Given the description of an element on the screen output the (x, y) to click on. 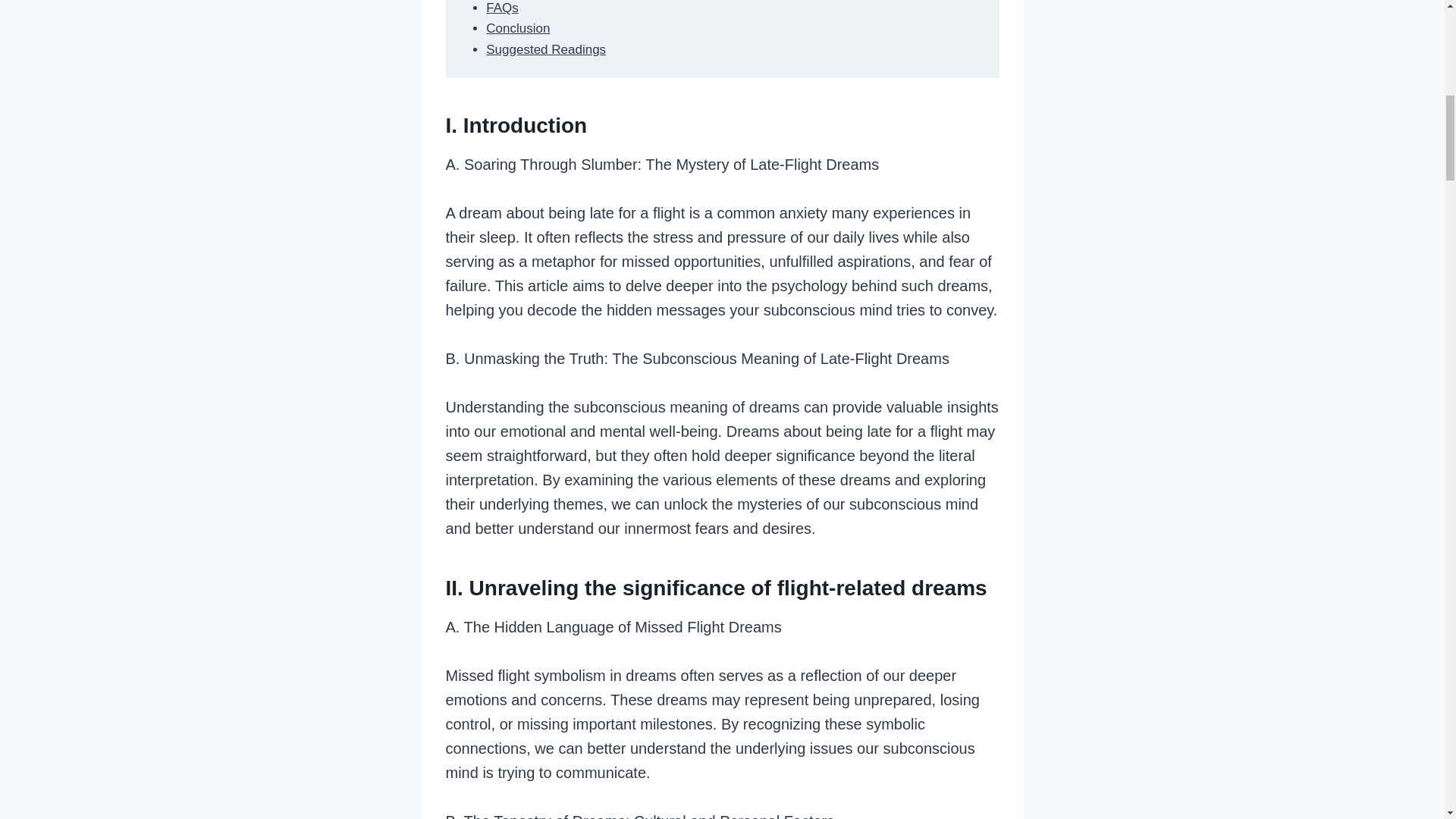
Suggested Readings (545, 49)
Conclusion (518, 28)
FAQs (502, 7)
